Given the description of an element on the screen output the (x, y) to click on. 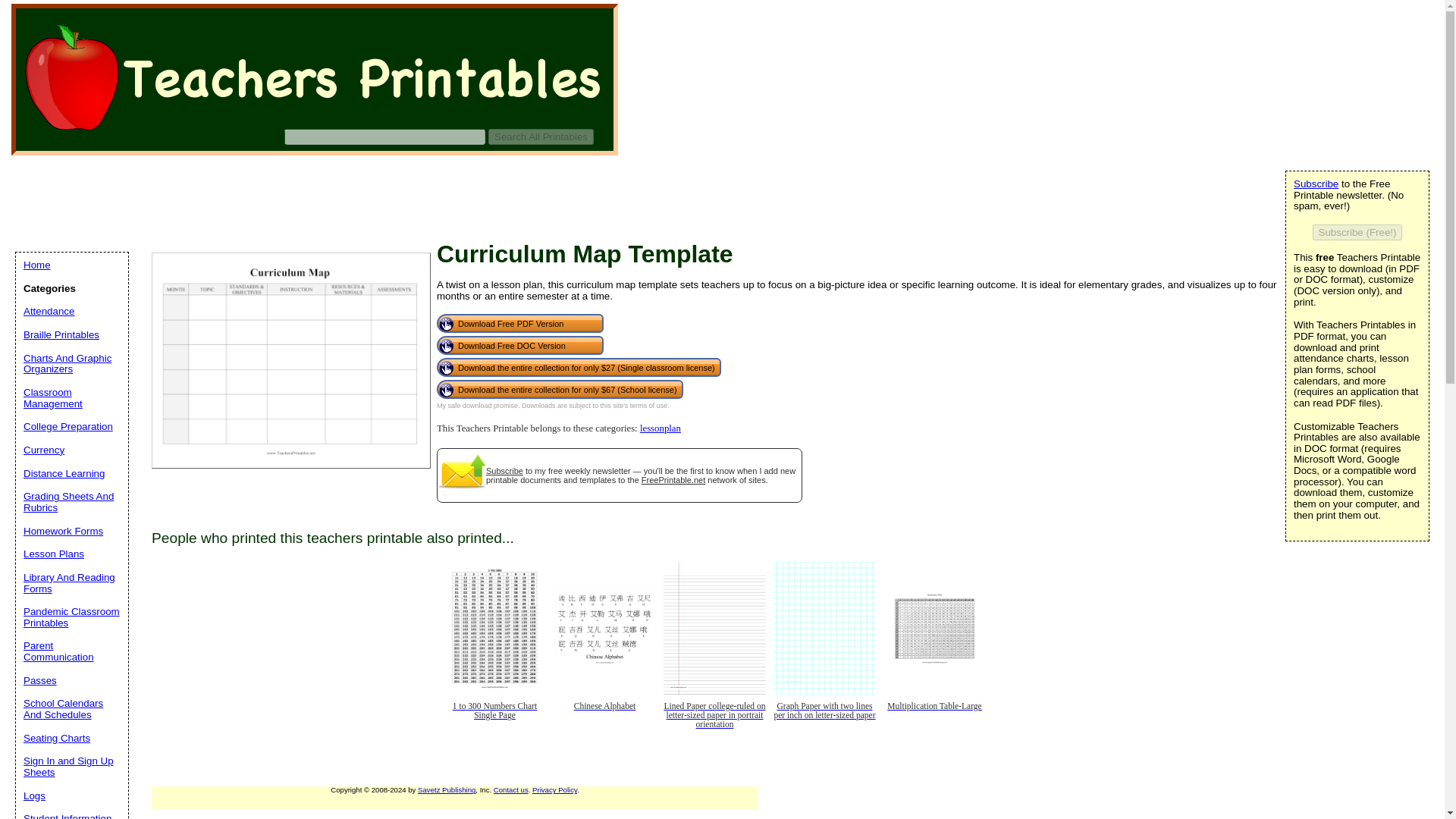
Passes (39, 680)
Sign In and Sign Up Sheets (68, 766)
Home (36, 265)
Privacy Policy (554, 789)
School Calendars And Schedules (63, 708)
College Preparation (68, 426)
Pandemic Classroom Printables (71, 617)
Subscribe (1316, 183)
Distance Learning (63, 473)
Subscribe (504, 470)
FreePrintable.net (673, 479)
lessonplan (660, 428)
Chinese Alphabet (604, 717)
Graph Paper with two lines per inch on letter-sized paper (824, 717)
Download Free PDF Version (520, 322)
